Given the description of an element on the screen output the (x, y) to click on. 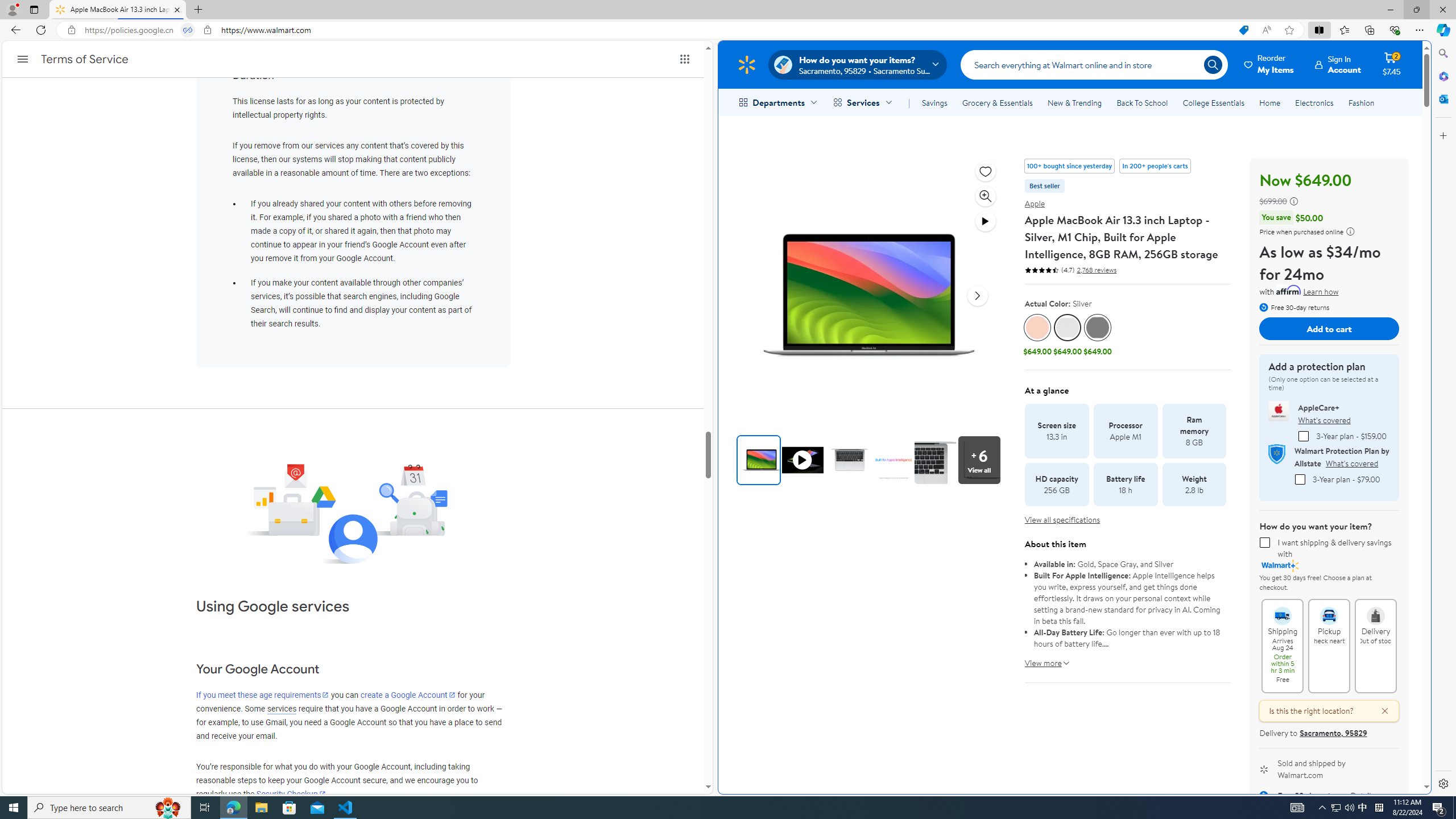
ReorderMy Items (1269, 64)
Free 30-day returns (1294, 306)
Silver (1066, 327)
3-Year plan - $159.00 (1303, 435)
Delivery Out of stock Delivery Out of stock (1375, 645)
Space Gray selected, Space Gray, $649.00 (1096, 335)
Apple (1035, 203)
Gold, $649.00 (1037, 335)
